Given the description of an element on the screen output the (x, y) to click on. 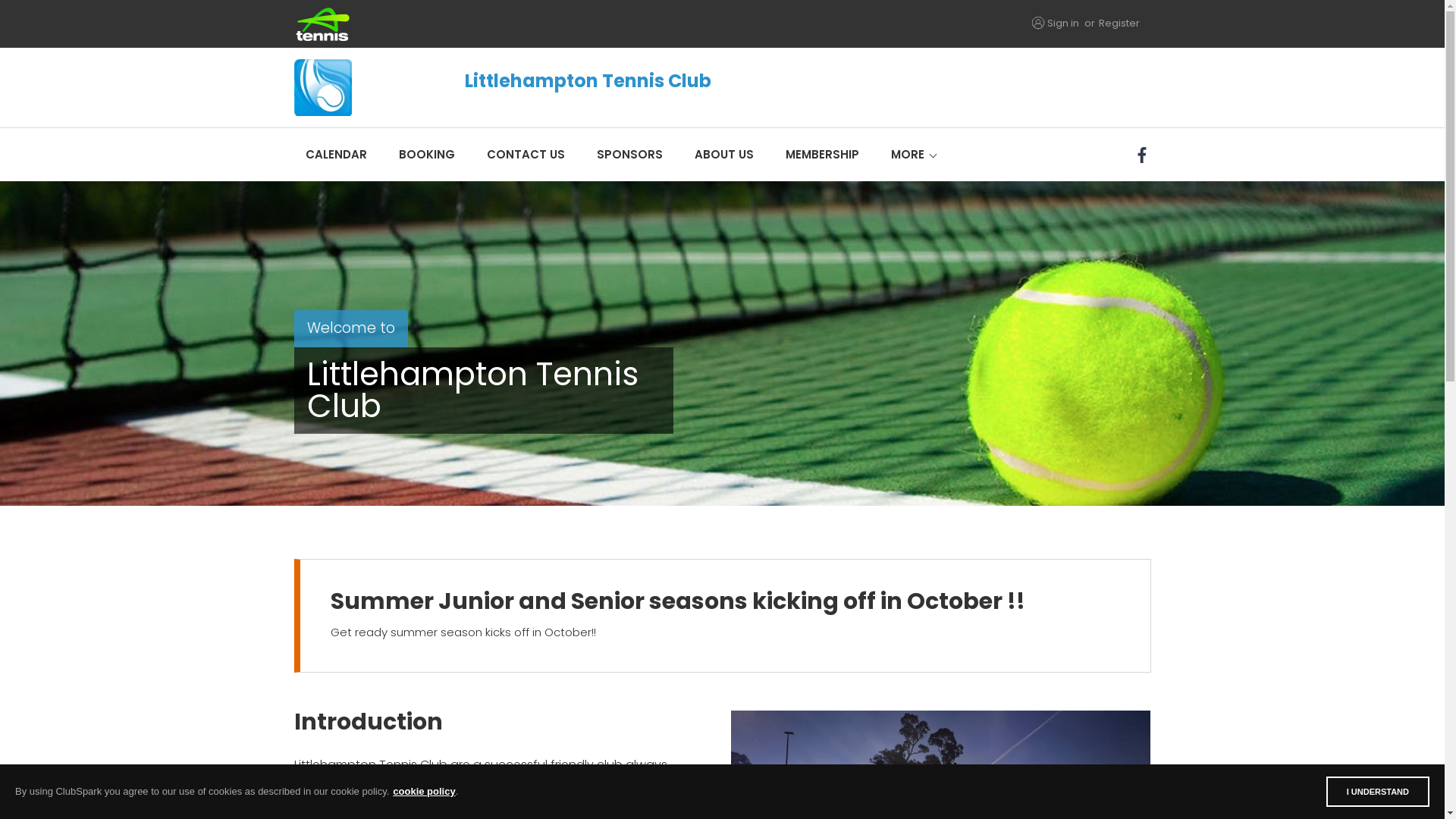
MEMBERSHIP Element type: text (821, 154)
Sign in Element type: text (1062, 22)
cookie policy Element type: text (423, 791)
I UNDERSTAND Element type: text (1377, 791)
MORE Element type: text (907, 154)
Littlehampton Tennis Club Element type: text (594, 87)
SPONSORS Element type: text (629, 154)
CALENDAR Element type: text (336, 154)
CONTACT US Element type: text (524, 154)
ClubSpark Element type: text (508, 23)
ABOUT US Element type: text (723, 154)
BOOKING Element type: text (425, 154)
Register Element type: text (1118, 22)
Facebook Element type: text (1143, 154)
